Given the description of an element on the screen output the (x, y) to click on. 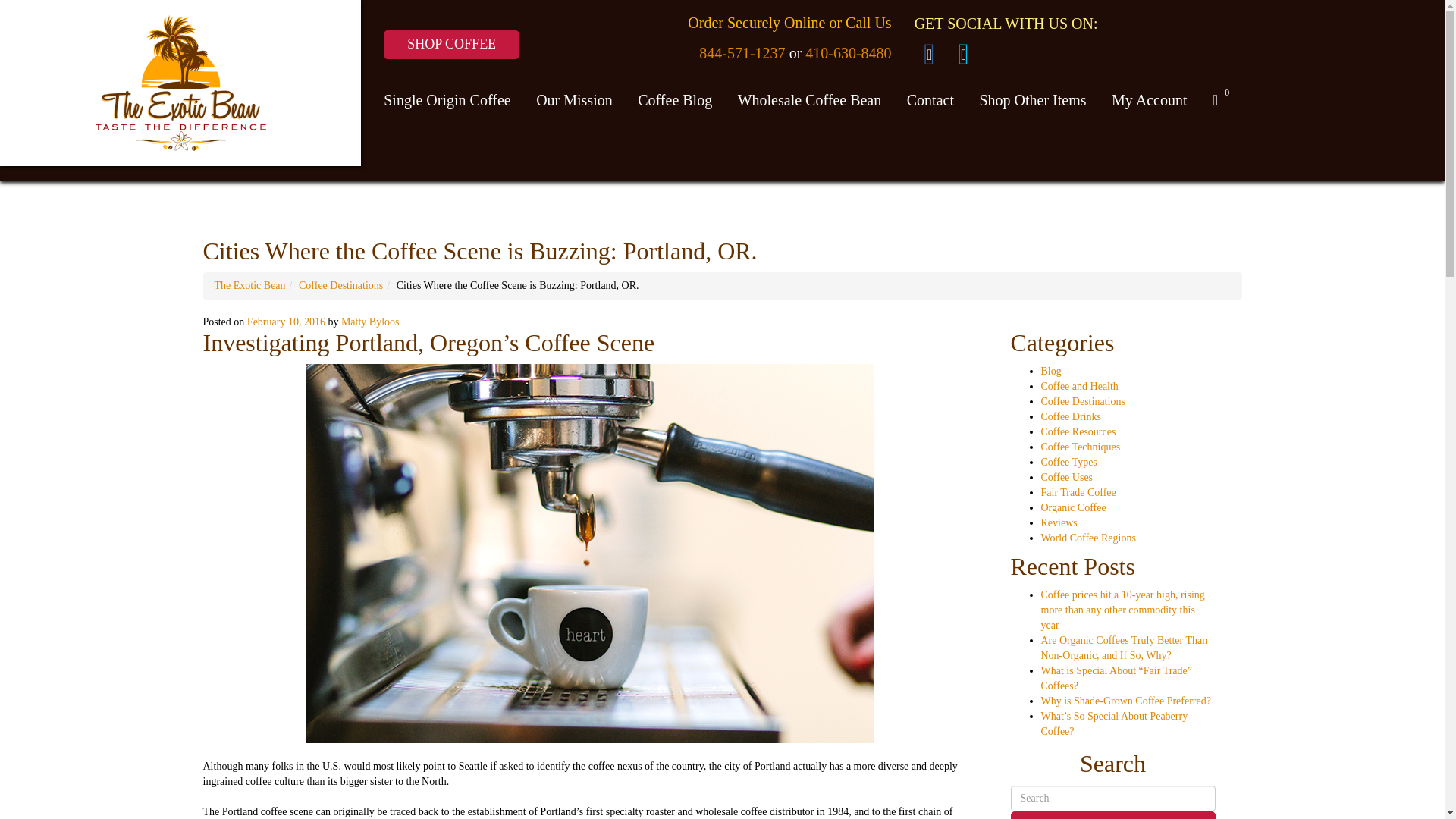
Visit The Exotic Coffee Bean, Inc. on Facebook (931, 53)
Coffee Blog (674, 100)
0 (1217, 100)
My Account (1149, 100)
Our Mission (574, 100)
SHOP COFFEE (451, 44)
Contact (930, 100)
Coffee Destinations (340, 285)
Wholesale (809, 100)
Search (1112, 815)
